Given the description of an element on the screen output the (x, y) to click on. 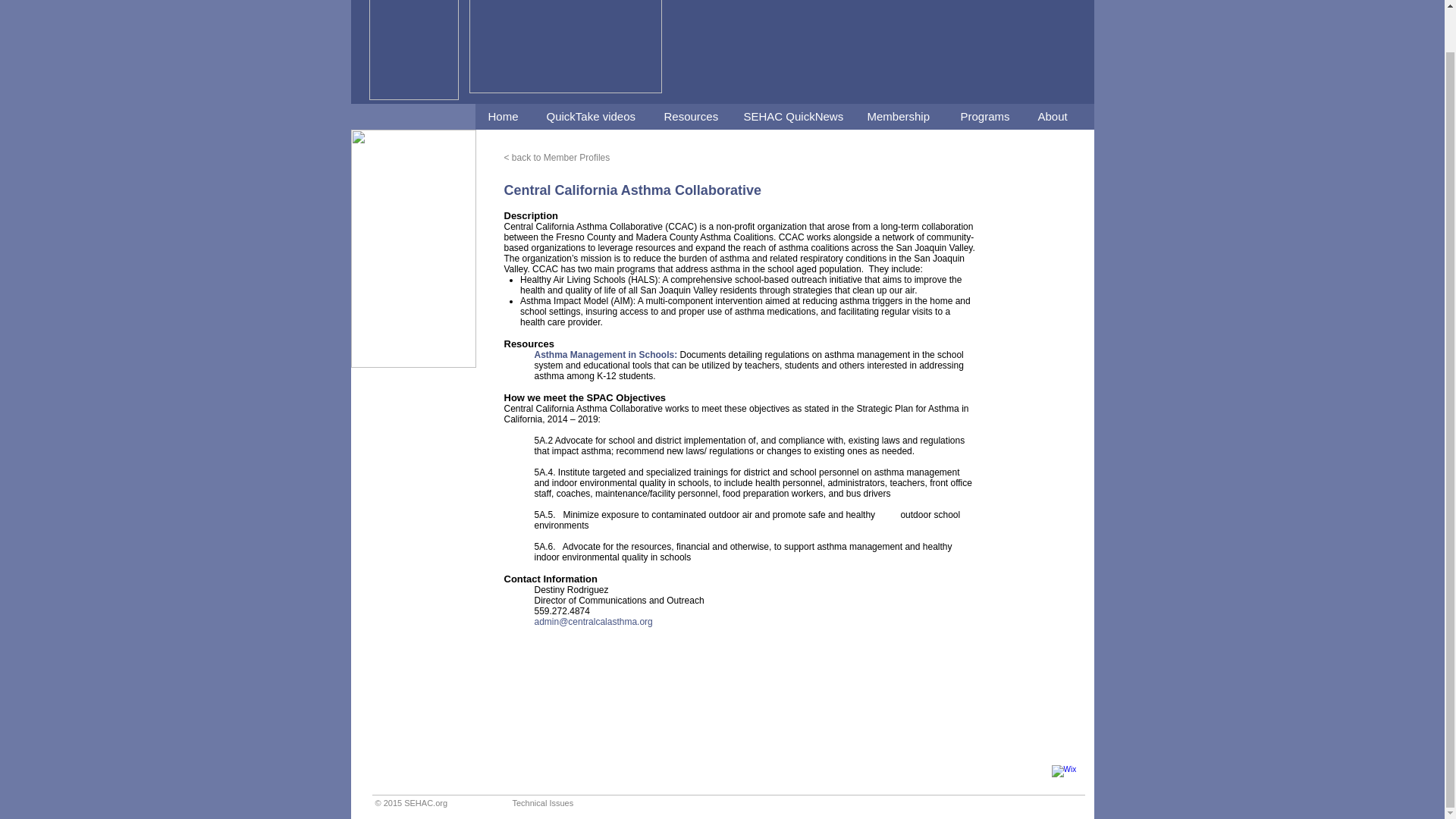
SEHAC QuickNews (791, 116)
Membership (900, 116)
QuickTake videos (590, 116)
Resources (690, 116)
Technical Issues (542, 802)
Home (503, 116)
Asthma Management in Schools: (606, 354)
